Given the description of an element on the screen output the (x, y) to click on. 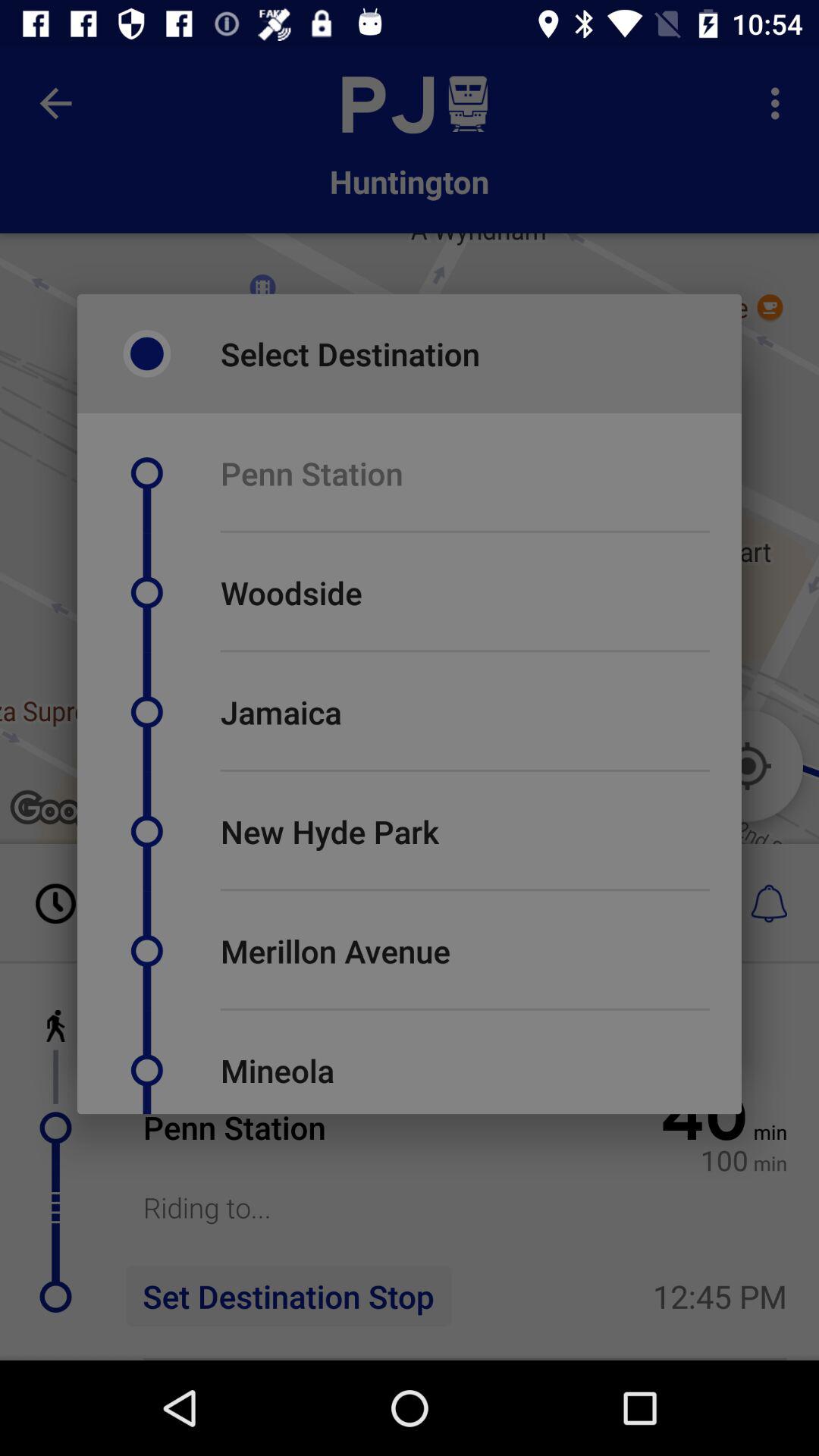
flip to jamaica (280, 711)
